Given the description of an element on the screen output the (x, y) to click on. 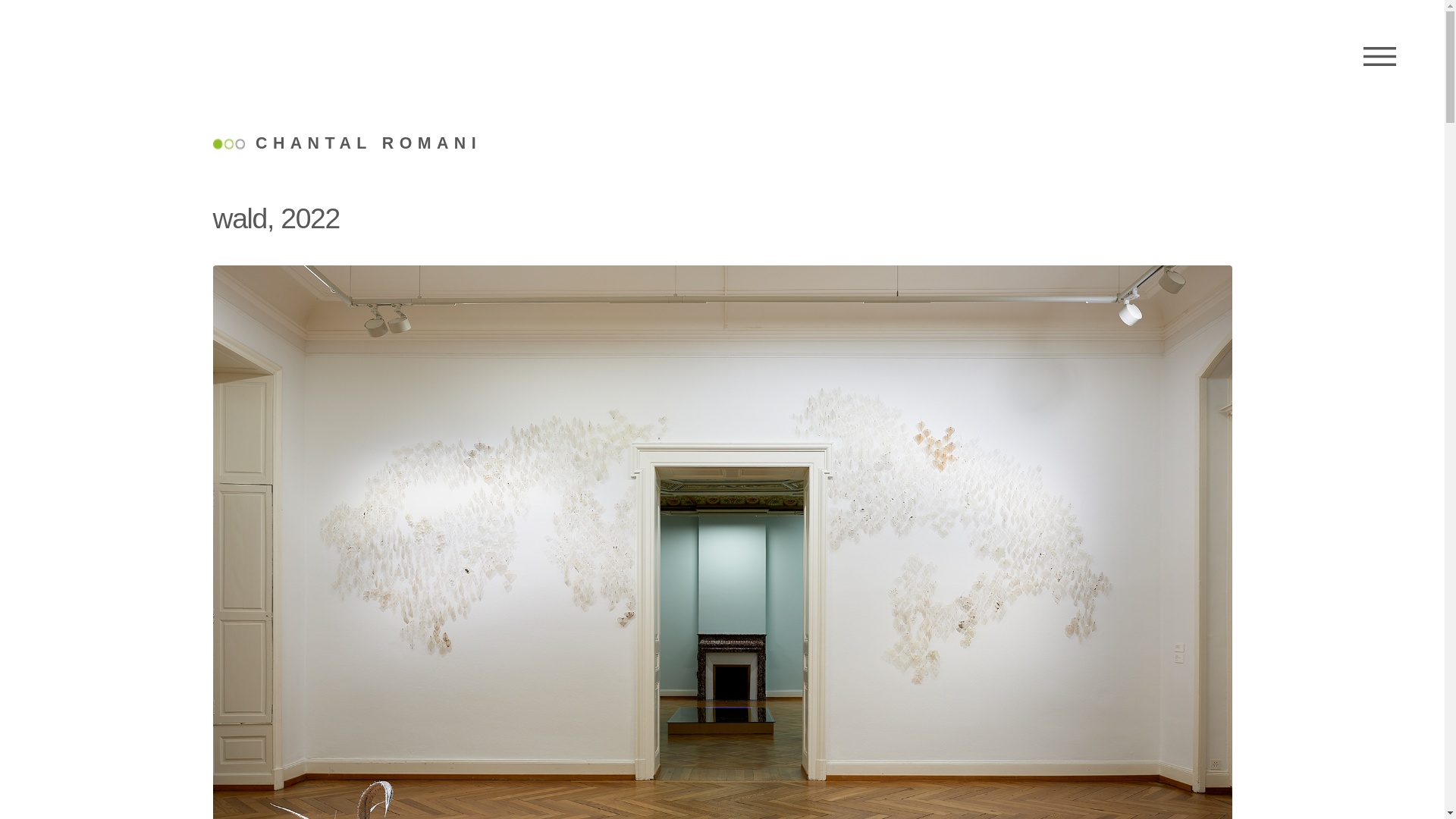
MENU Element type: text (1379, 56)
CHANTAL ROMANI Element type: text (346, 143)
